Given the description of an element on the screen output the (x, y) to click on. 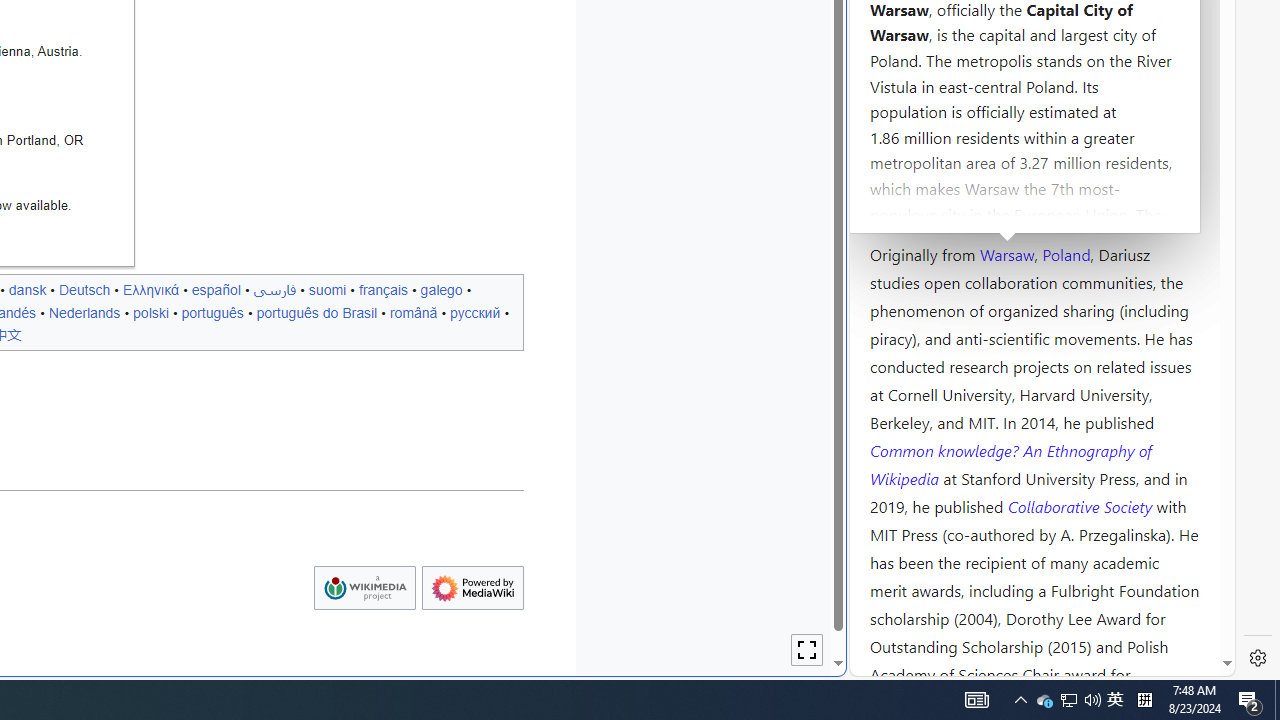
Deutsch (84, 289)
AutomationID: footer-poweredbyico (472, 588)
suomi (327, 289)
Actions for this site (1129, 306)
Toggle limited content width (807, 650)
Global web icon (888, 663)
Powered by MediaWiki (472, 588)
